Given the description of an element on the screen output the (x, y) to click on. 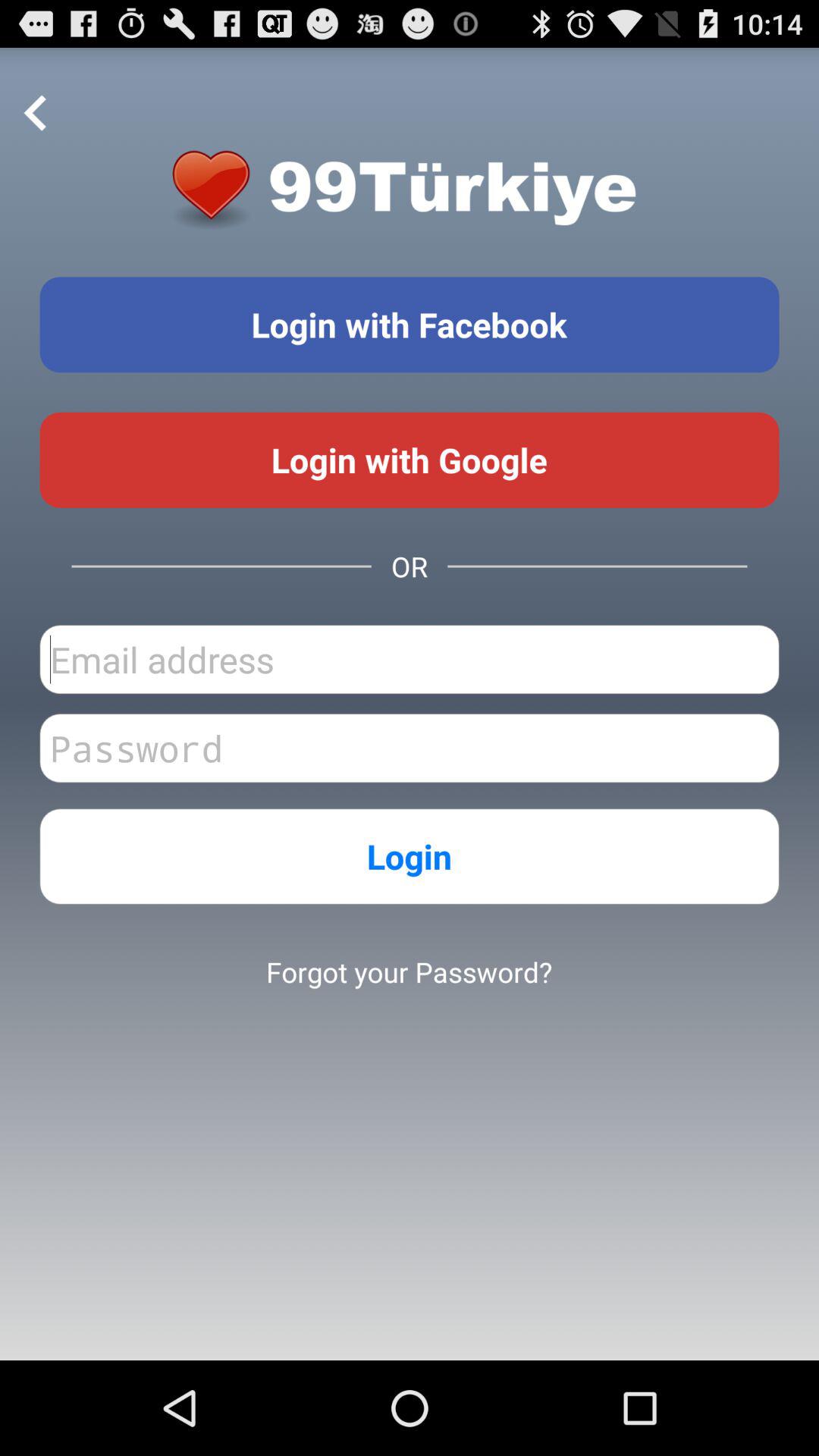
select the icon at the bottom (409, 971)
